Given the description of an element on the screen output the (x, y) to click on. 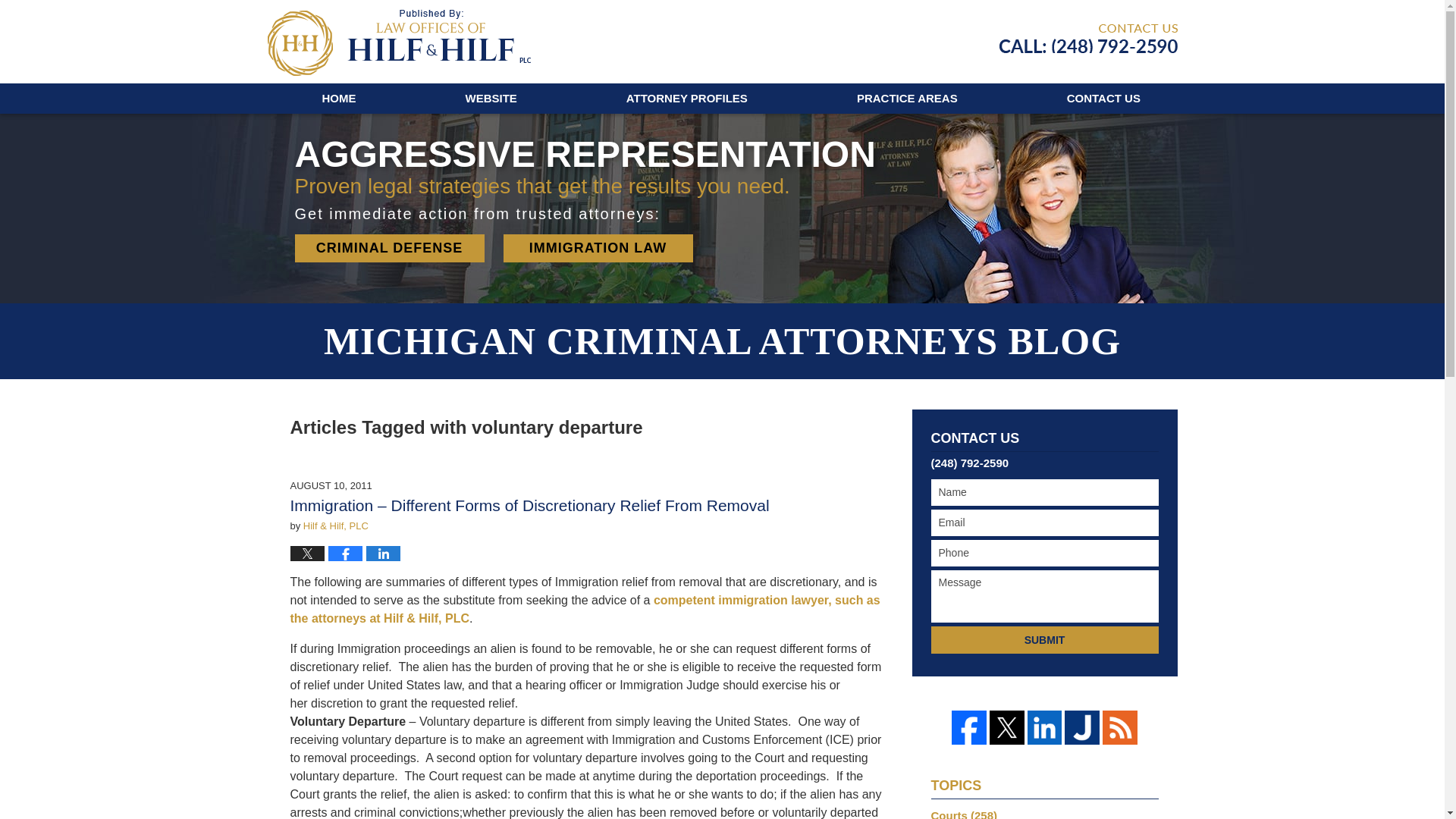
IMMIGRATION LAW (598, 248)
CRIMINAL DEFENSE (388, 248)
WEBSITE (491, 98)
SUBMIT (1044, 639)
CONTACT US (1103, 98)
Michigan Criminal Attorneys Blog (397, 42)
Please enter a valid phone number. (1044, 552)
Facebook (969, 727)
Twitter (1007, 727)
ATTORNEY PROFILES (687, 98)
Feed (1119, 727)
PRACTICE AREAS (906, 98)
HOME (338, 98)
Justia (1081, 727)
LinkedIn (1044, 727)
